Given the description of an element on the screen output the (x, y) to click on. 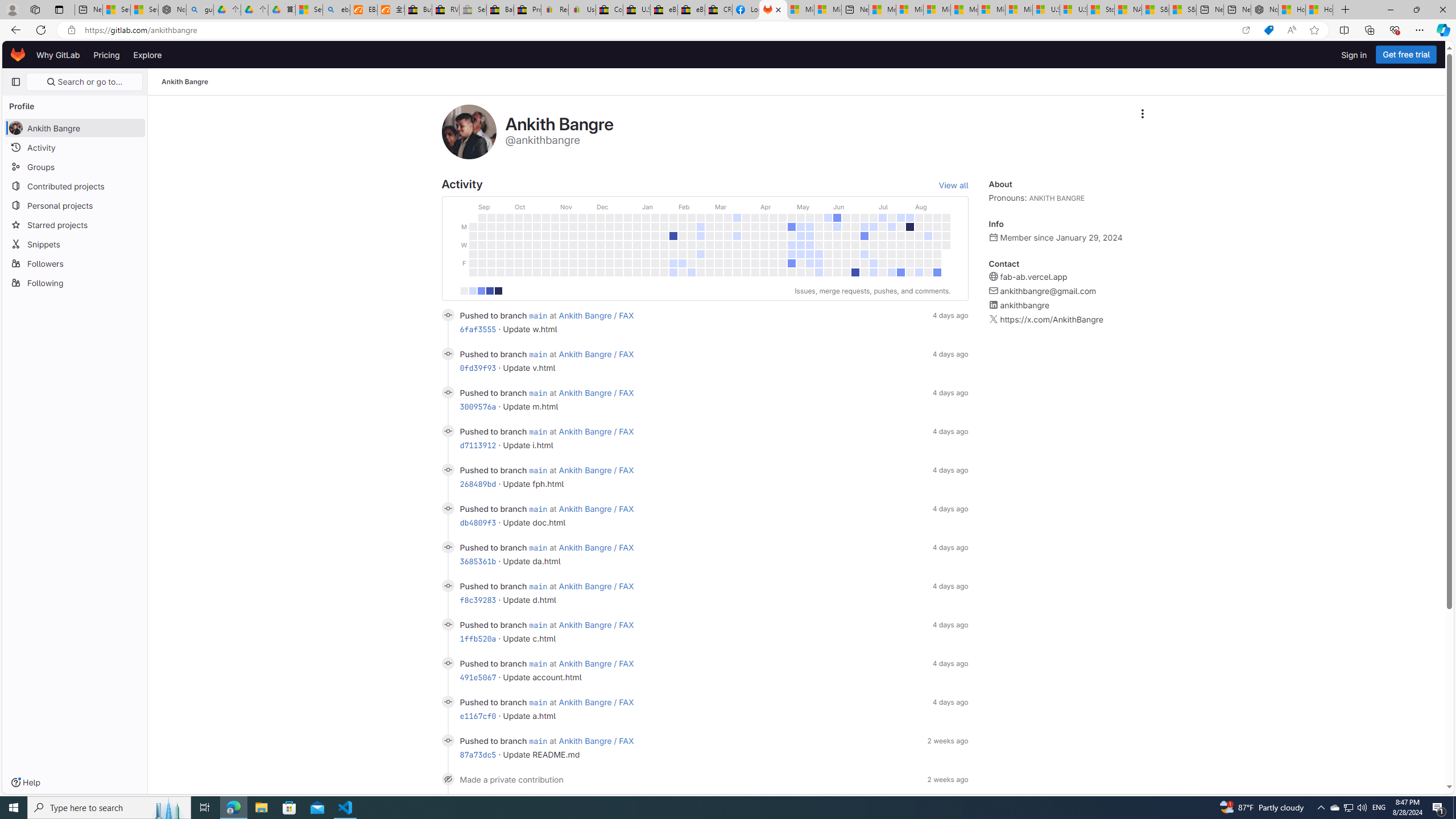
User profile picture (468, 131)
Why GitLab (58, 54)
